Given the description of an element on the screen output the (x, y) to click on. 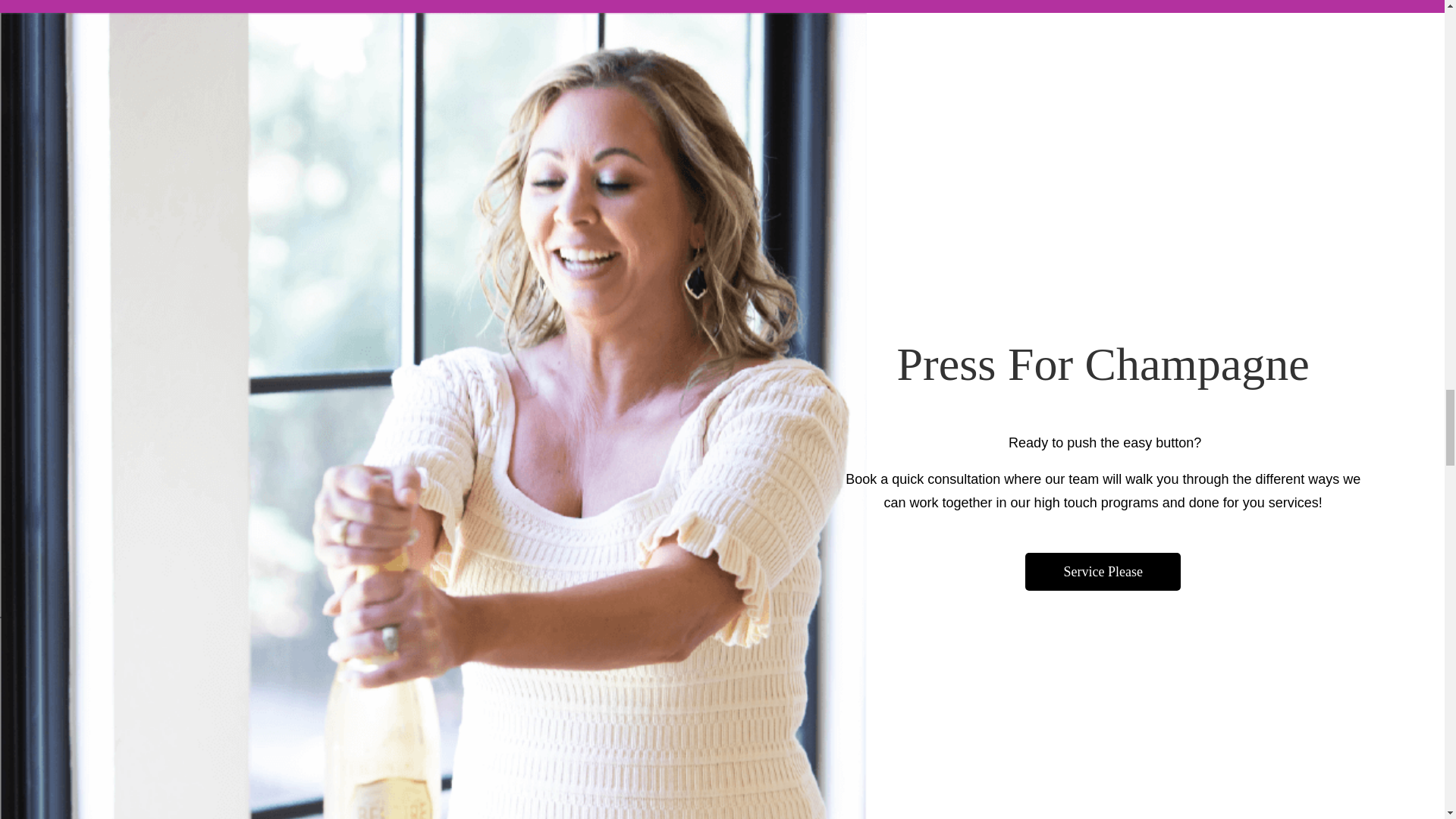
Service Please (1102, 571)
